Given the description of an element on the screen output the (x, y) to click on. 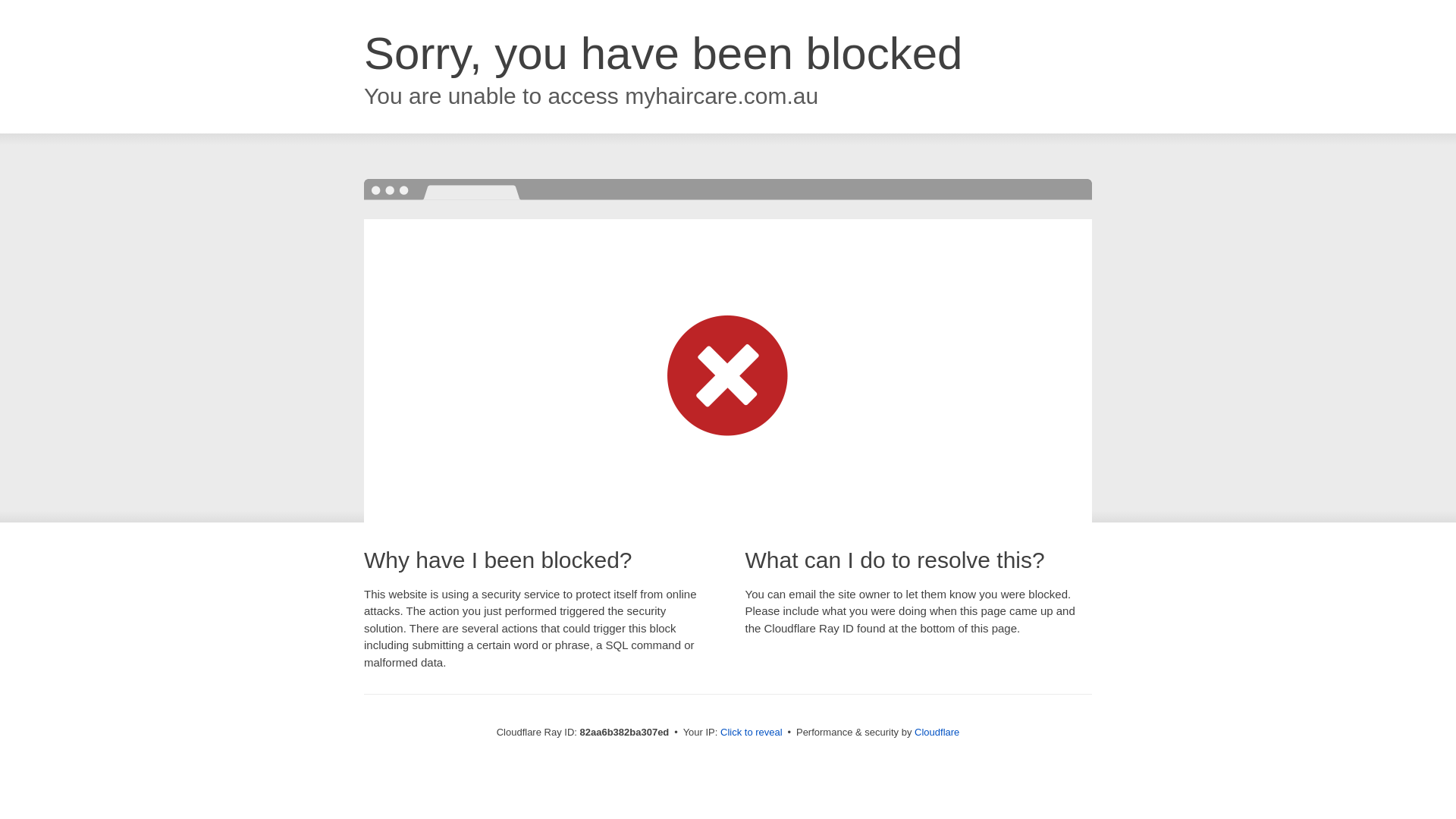
Cloudflare Element type: text (936, 731)
Click to reveal Element type: text (751, 732)
